Given the description of an element on the screen output the (x, y) to click on. 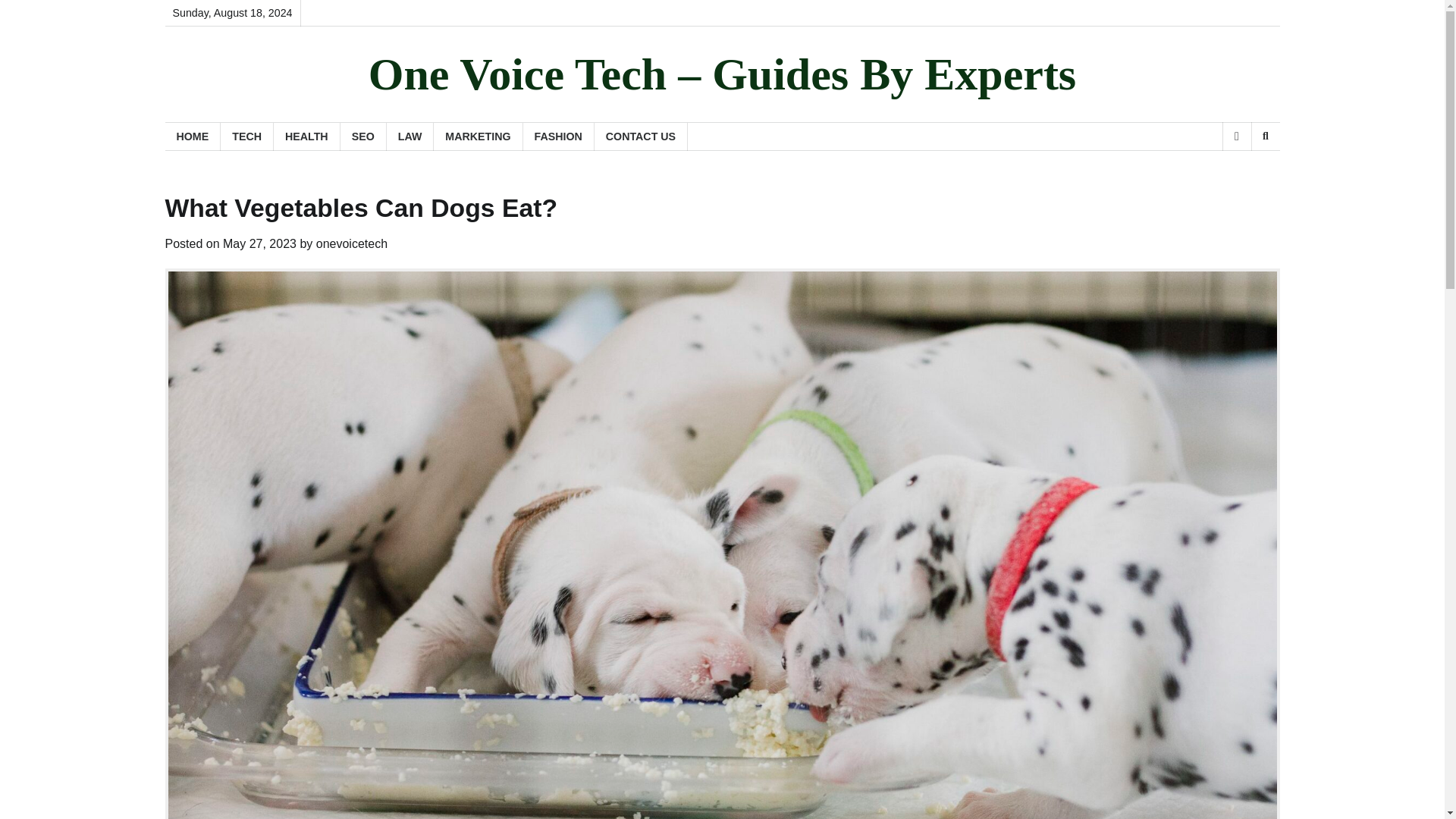
HOME (193, 136)
Search (1240, 175)
HEALTH (306, 136)
View Random Post (1236, 136)
FASHION (558, 136)
CONTACT US (640, 136)
LAW (410, 136)
Search (1264, 136)
MARKETING (477, 136)
SEO (363, 136)
